Given the description of an element on the screen output the (x, y) to click on. 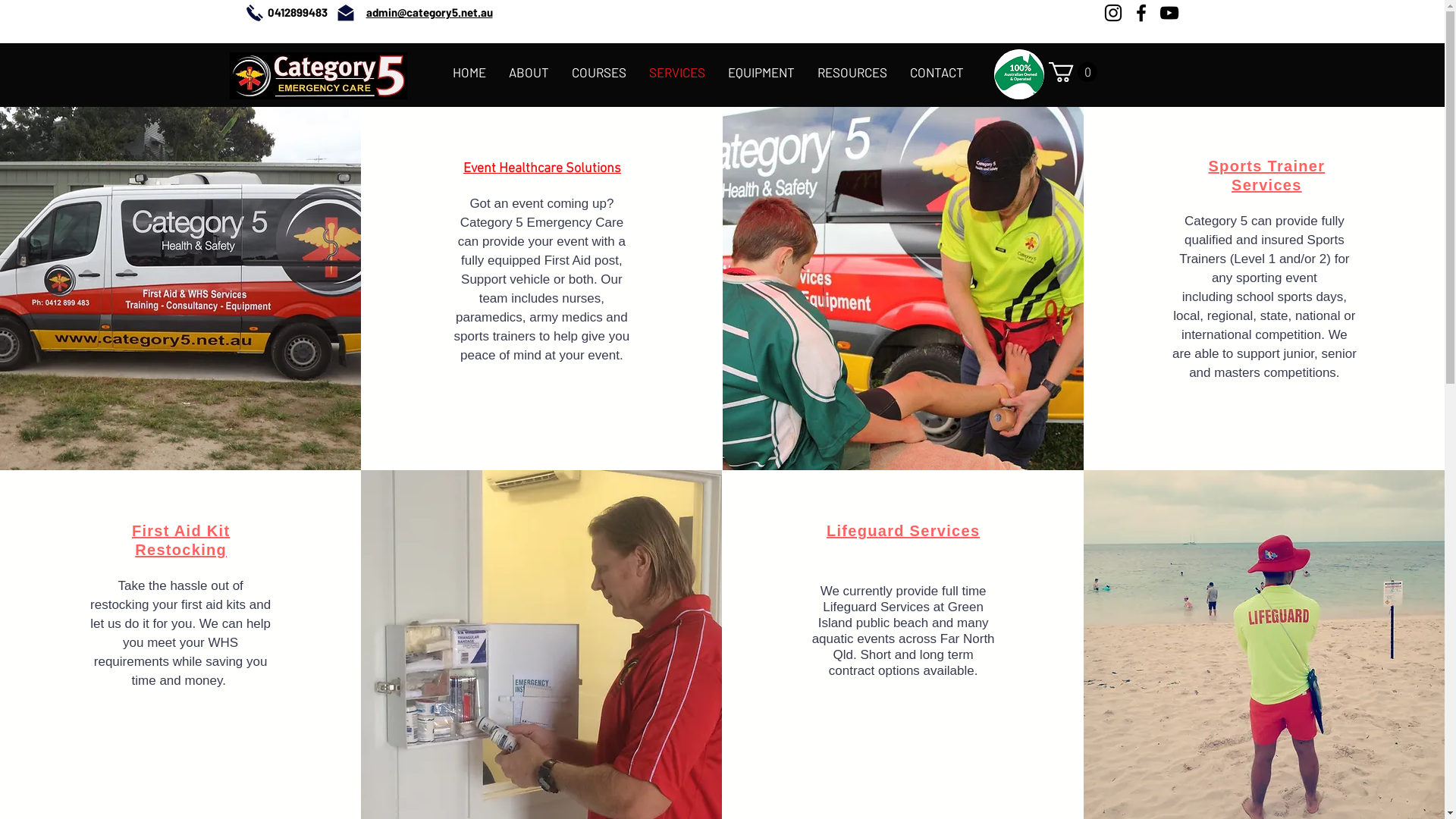
RESOURCES Element type: text (852, 71)
HOME Element type: text (469, 71)
ABOUT Element type: text (528, 71)
COURSES Element type: text (598, 71)
Lifeguard Services Element type: text (902, 532)
First Aid Kit Restocking Element type: text (180, 541)
CONTACT Element type: text (936, 71)
0 Element type: text (1072, 71)
EQUIPMENT Element type: text (761, 71)
admin@category5.net.au Element type: text (428, 13)
Sports Trainer Services Element type: text (1266, 176)
SERVICES Element type: text (676, 71)
Event Healthcare Solutions Element type: text (542, 168)
